Given the description of an element on the screen output the (x, y) to click on. 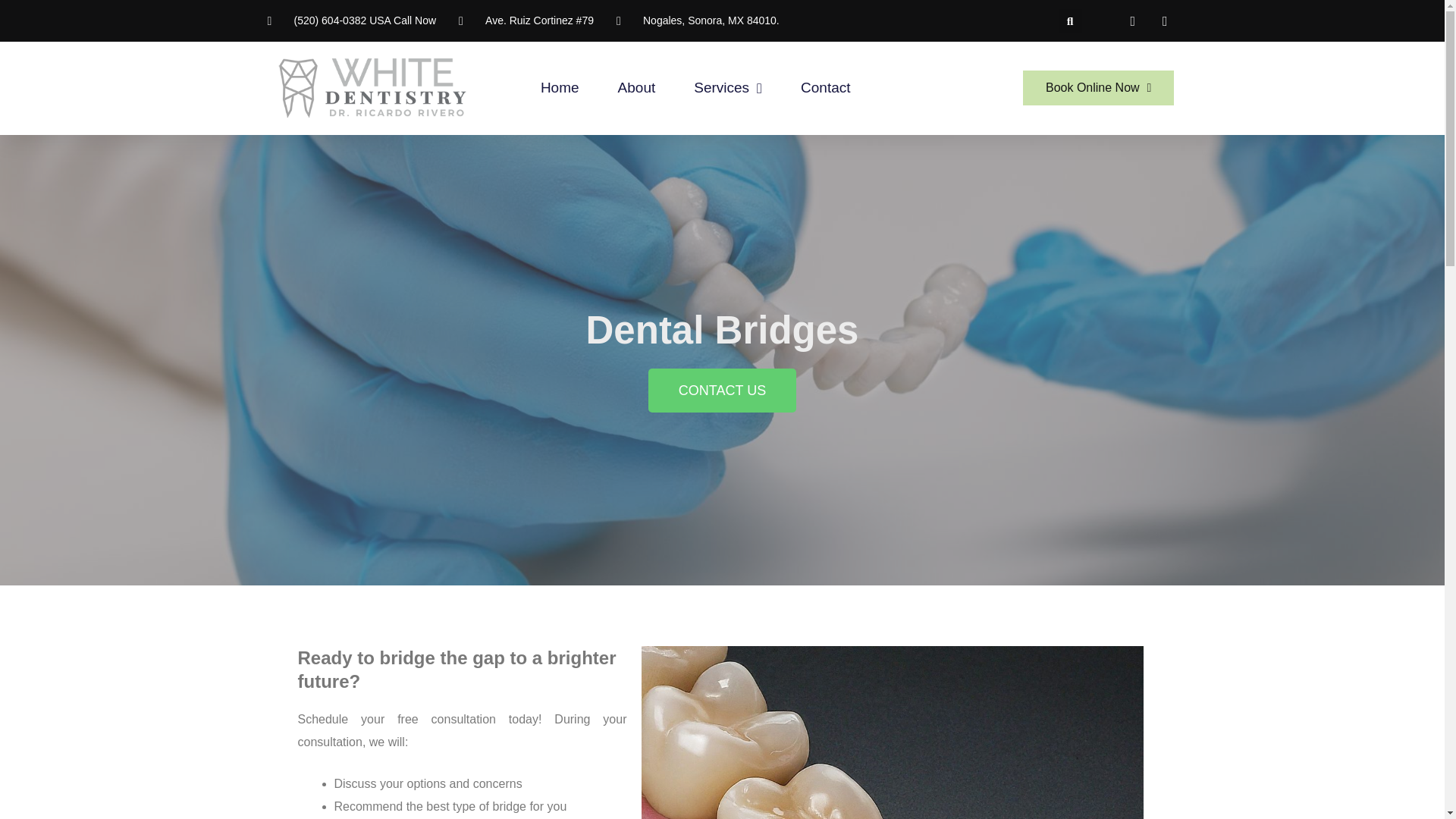
Home (559, 87)
Book Online Now (1098, 87)
Contact (825, 87)
About (636, 87)
Services (727, 87)
